Given the description of an element on the screen output the (x, y) to click on. 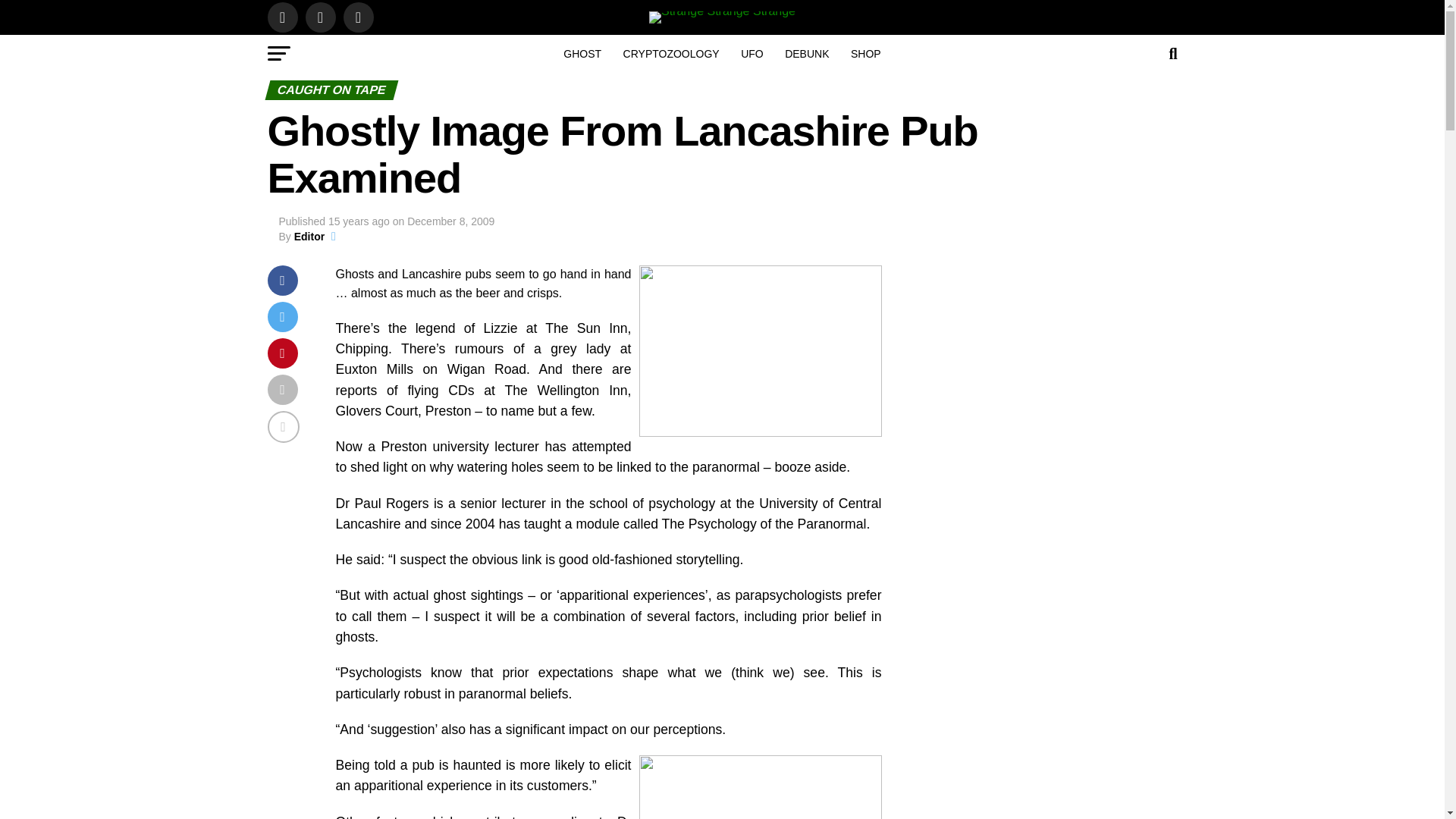
Posts by Editor (309, 236)
CRYPTOZOOLOGY (671, 53)
DEBUNK (807, 53)
SHOP (865, 53)
GHOST (582, 53)
UFO (752, 53)
Editor (309, 236)
